Given the description of an element on the screen output the (x, y) to click on. 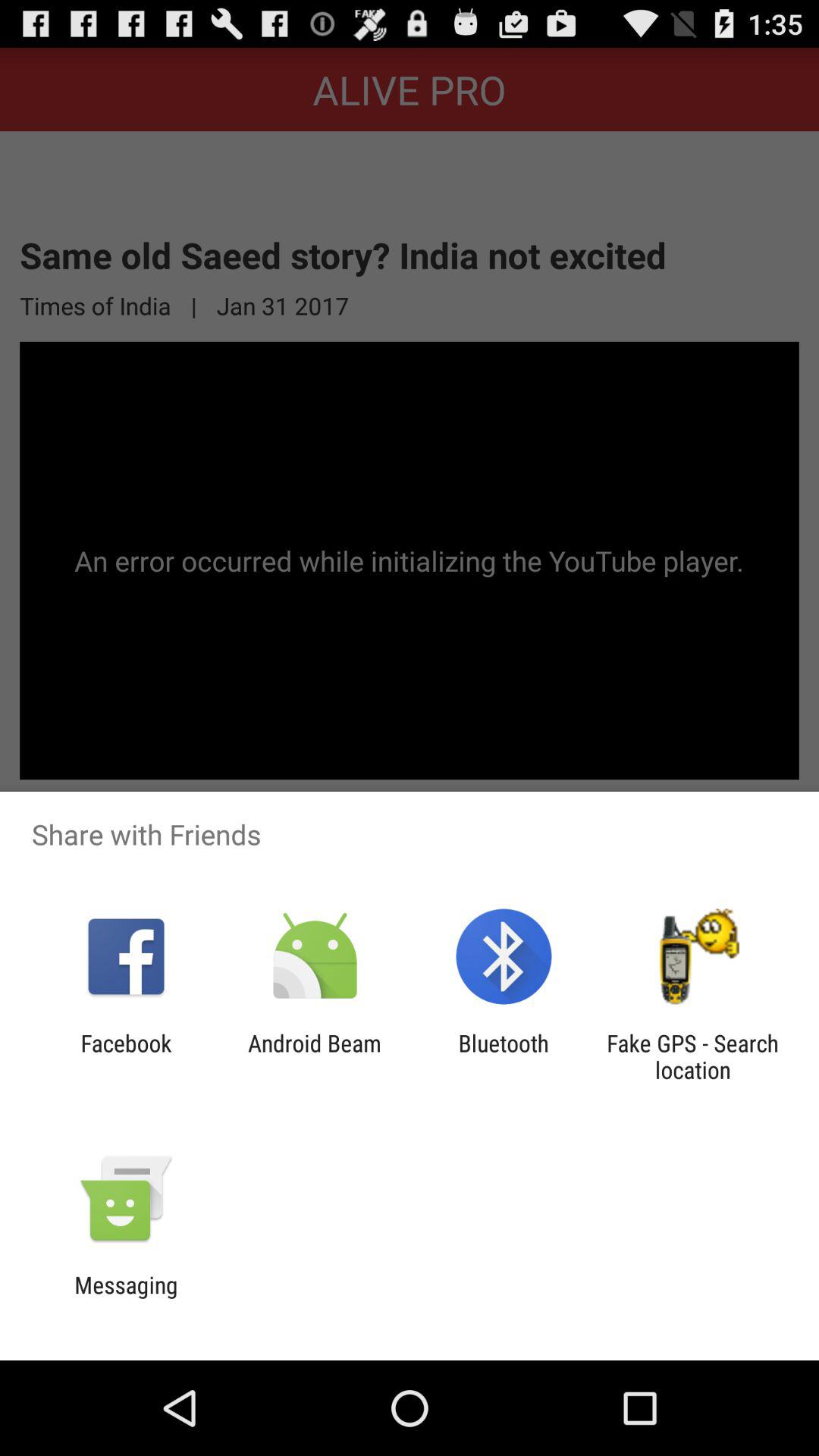
tap fake gps search icon (692, 1056)
